Given the description of an element on the screen output the (x, y) to click on. 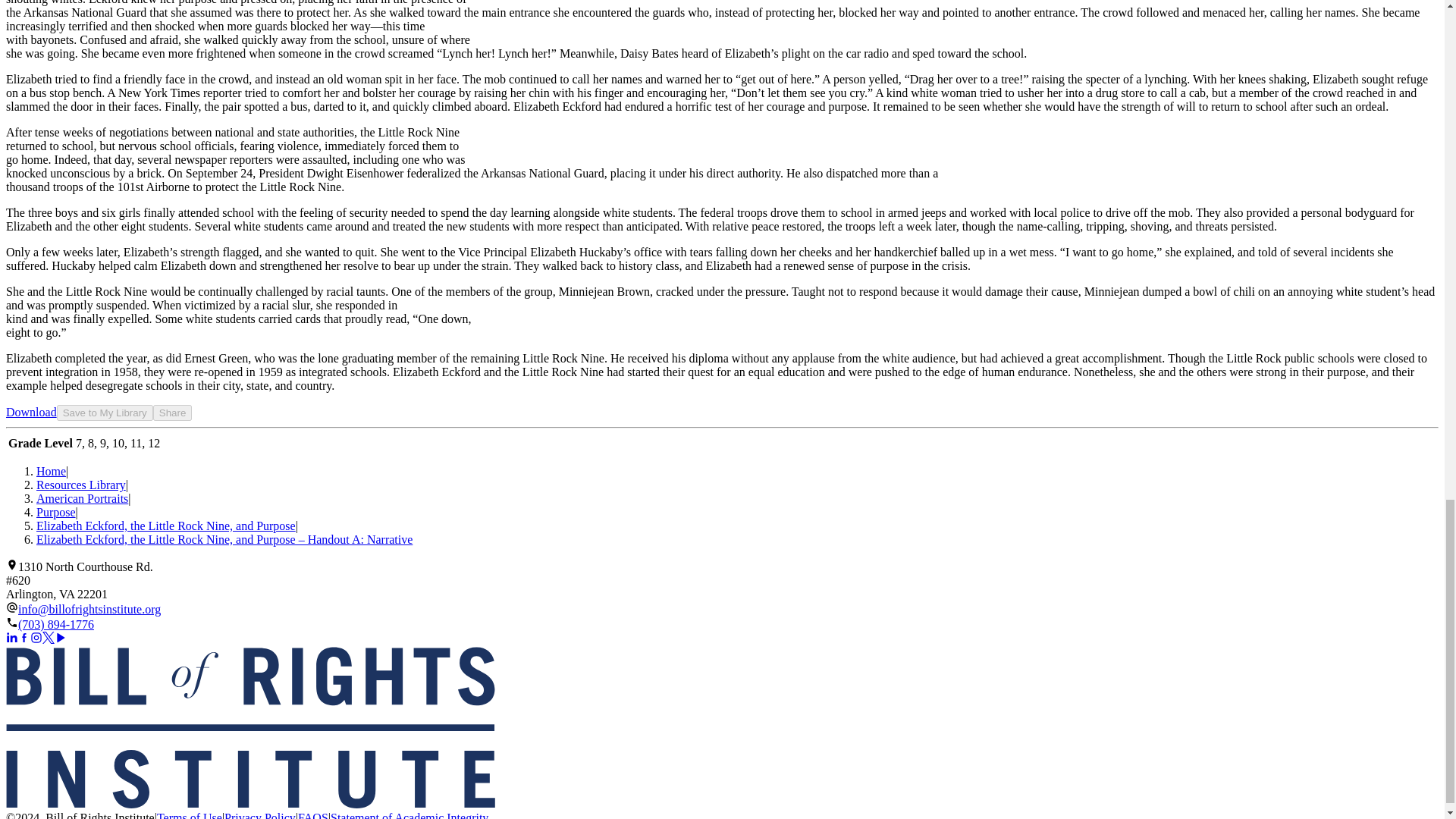
Follow us on youtube (60, 637)
Phone icon (11, 622)
Email icon (11, 607)
Follow us on linkedin (11, 637)
Follow us on facebook (23, 637)
Address icon (11, 564)
Follow us on instagram (36, 637)
Follow us on twitter (48, 637)
